Given the description of an element on the screen output the (x, y) to click on. 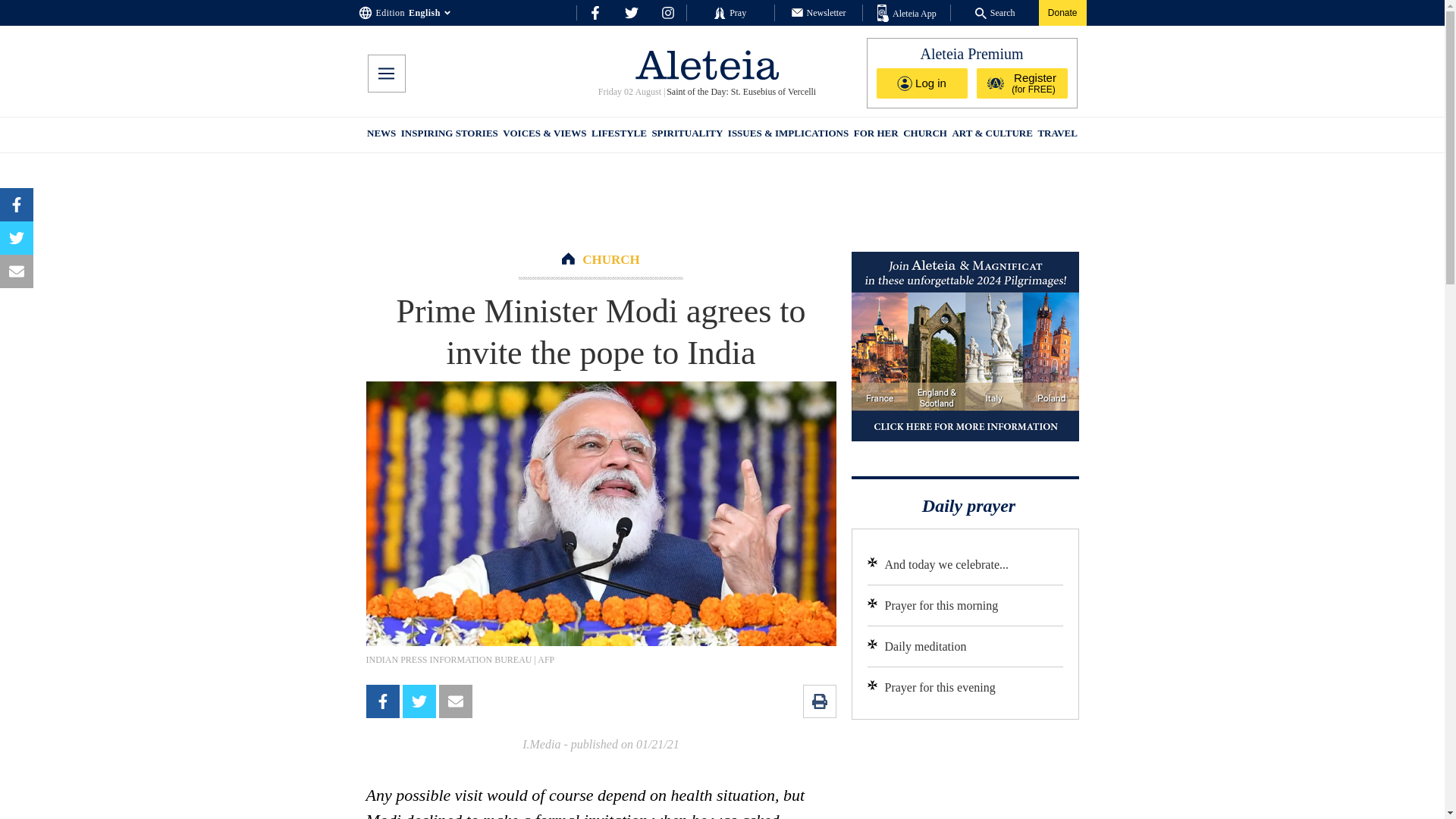
Aleteia App (906, 13)
FOR HER (875, 134)
social-tw-top-row (631, 12)
Newsletter (818, 12)
INSPIRING STORIES (449, 134)
I.Media (541, 744)
CHURCH (611, 259)
social-ig-top-row (668, 12)
CHURCH (924, 134)
TRAVEL (1056, 134)
LIFESTYLE (618, 134)
Search (994, 12)
Pray (729, 12)
social-fb-top-row (595, 12)
Log in (922, 82)
